Given the description of an element on the screen output the (x, y) to click on. 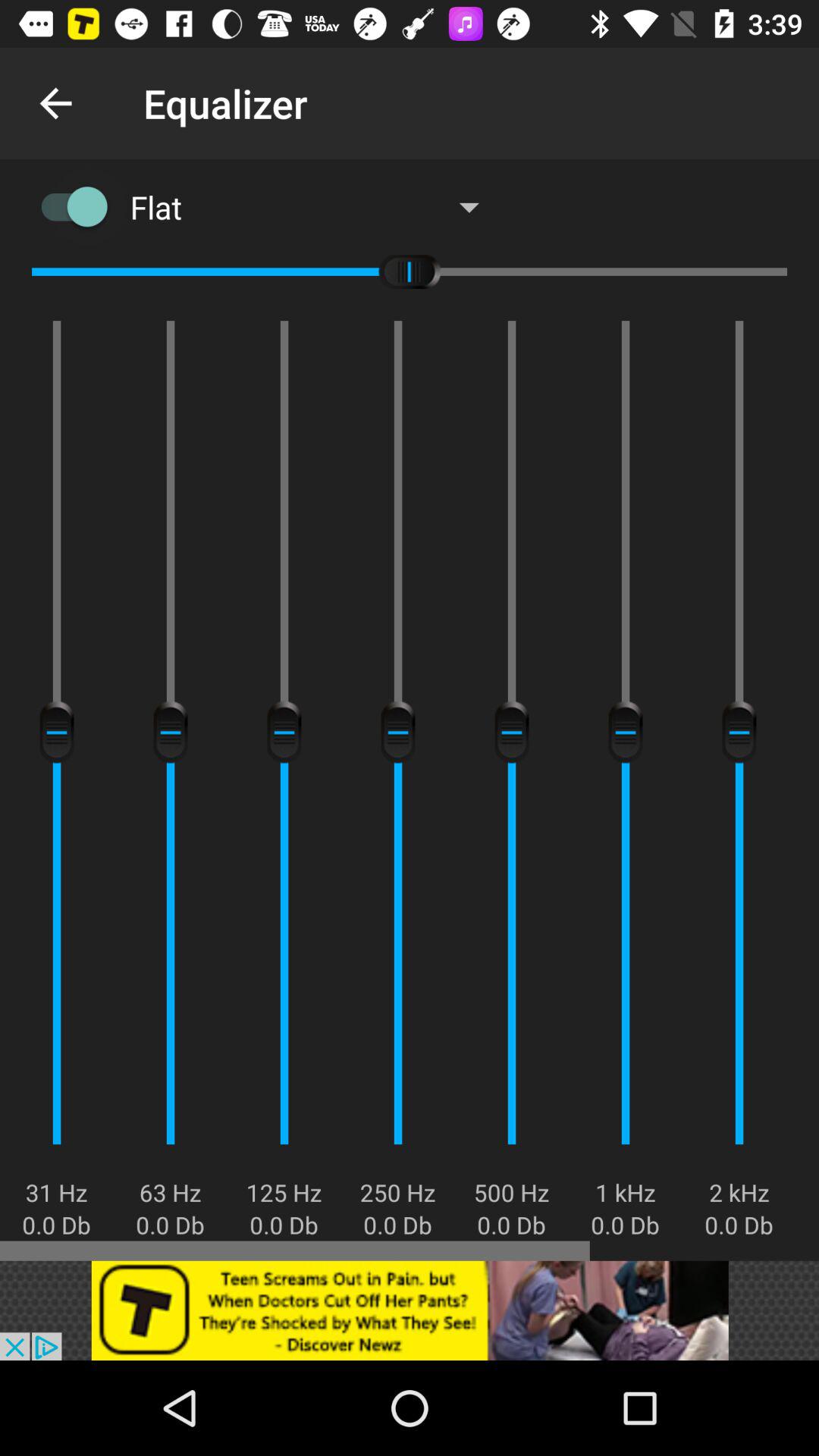
advertisement (409, 1310)
